Given the description of an element on the screen output the (x, y) to click on. 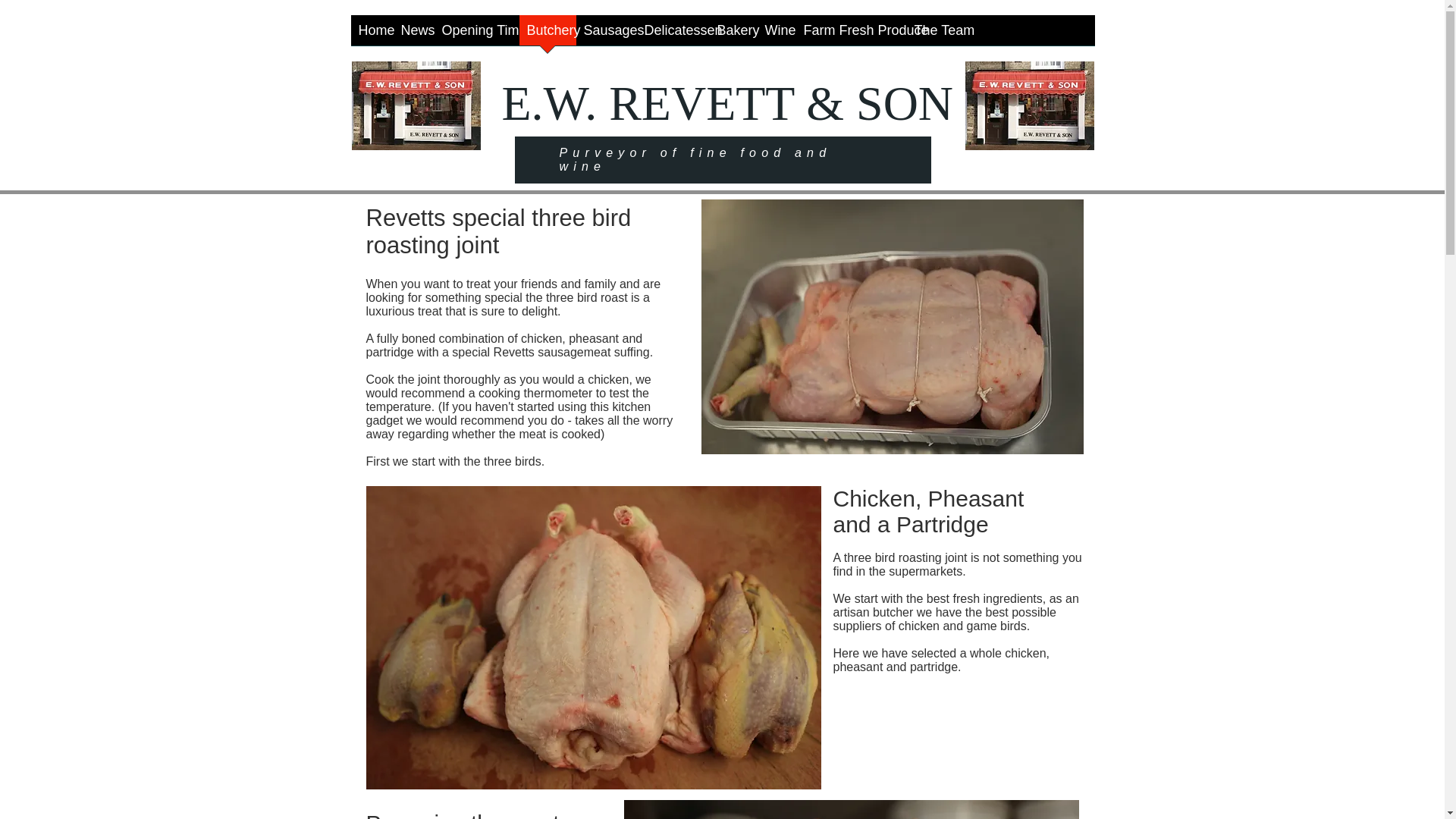
The Team (937, 35)
Opening Times (475, 35)
Bakery (733, 35)
Farm Fresh Produce (851, 35)
Delicatessen (673, 35)
The shop fron in Wickham Market (416, 105)
Butchery (546, 35)
Purveyor of fine food and wine (695, 159)
Sausages (606, 35)
Home (371, 35)
